Given the description of an element on the screen output the (x, y) to click on. 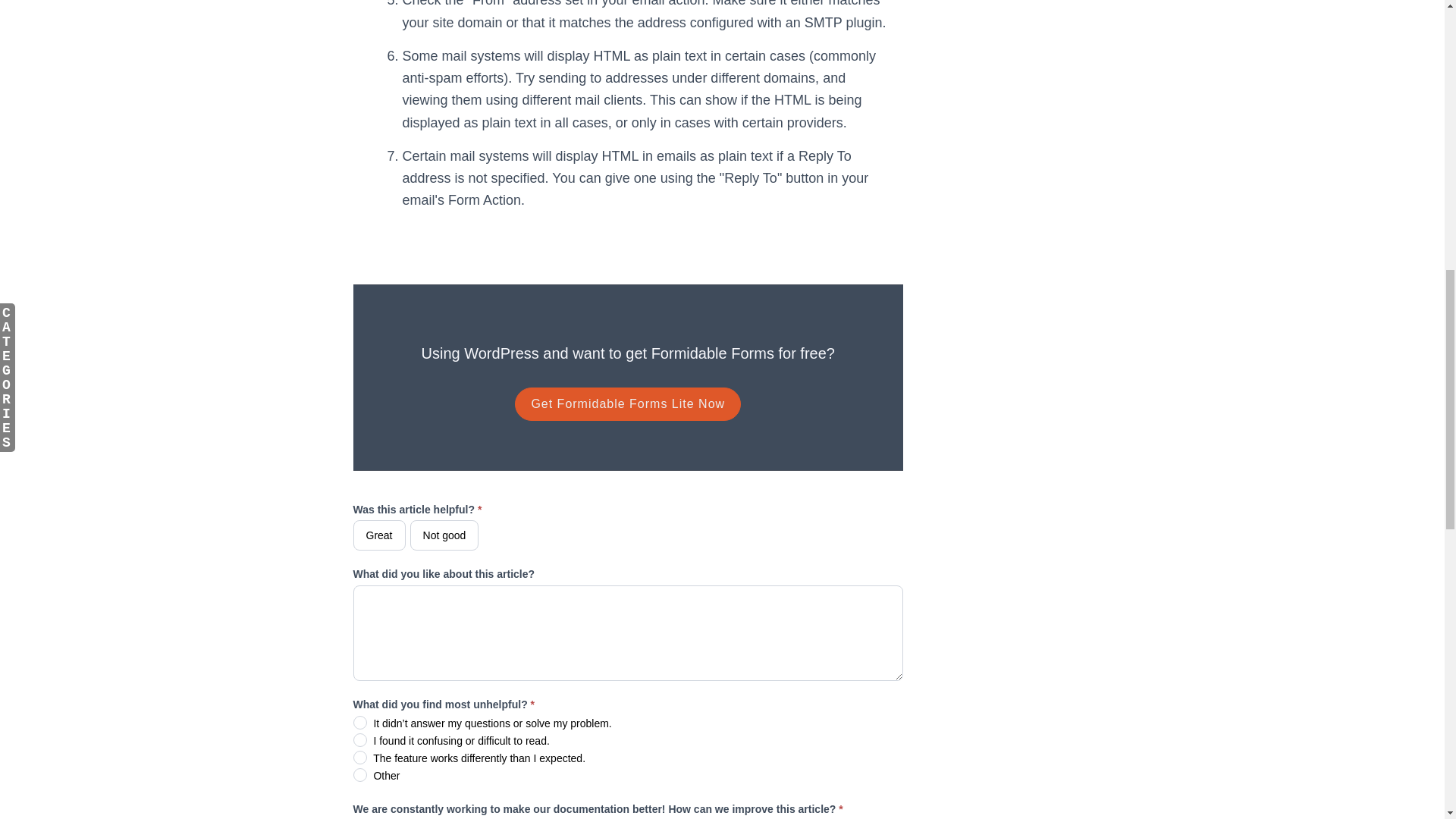
The feature works differently than I expected. (359, 757)
I found it confusing or difficult to read. (359, 739)
Other (359, 775)
Get Formidable Forms Lite Now (628, 403)
